Given the description of an element on the screen output the (x, y) to click on. 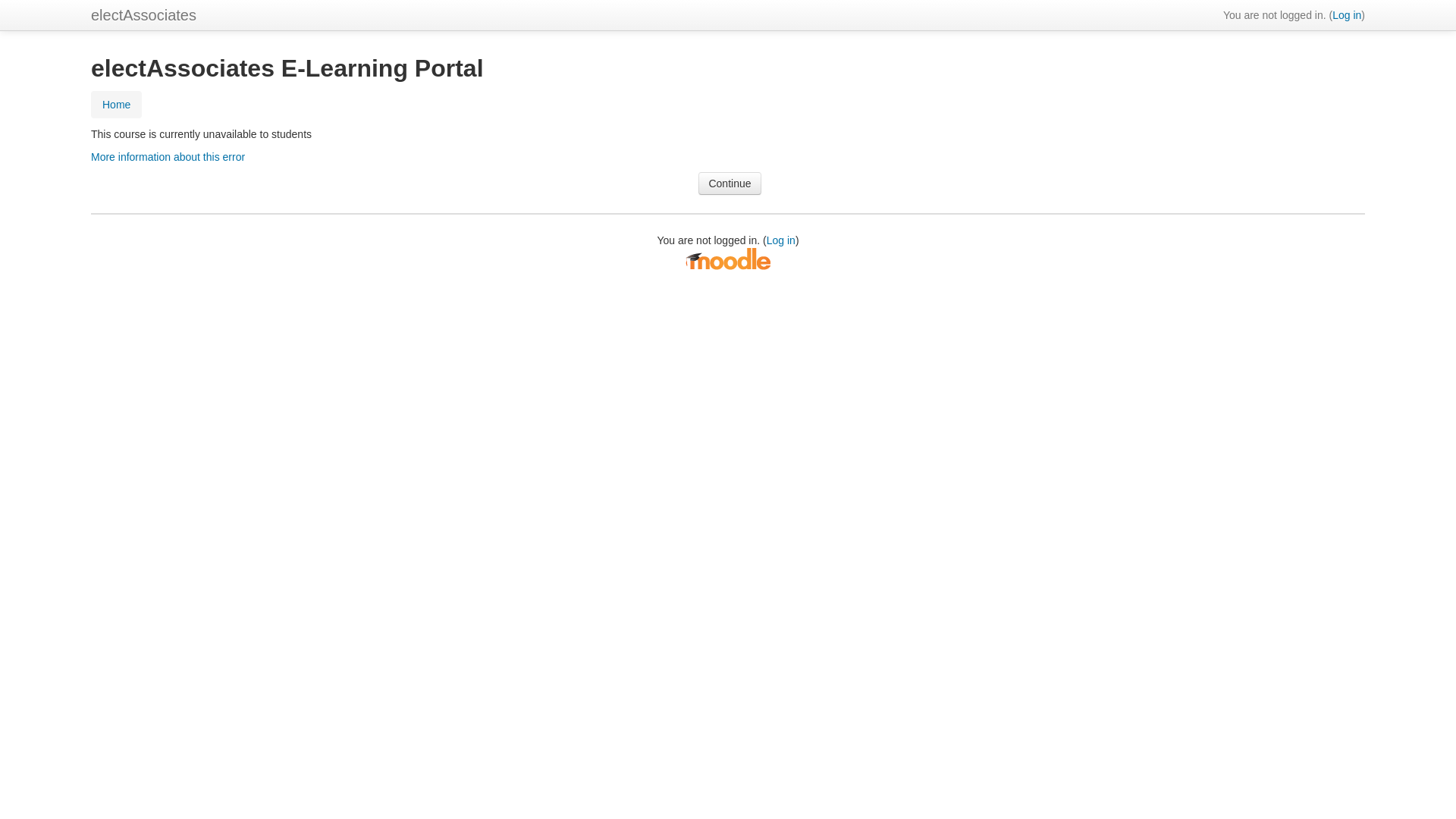
More information about this error Element type: text (167, 156)
Log in Element type: text (780, 240)
Home Element type: text (116, 104)
Continue Element type: text (729, 183)
Log in Element type: text (1346, 15)
electAssociates Element type: text (143, 15)
Moodle Element type: hover (727, 258)
